Given the description of an element on the screen output the (x, y) to click on. 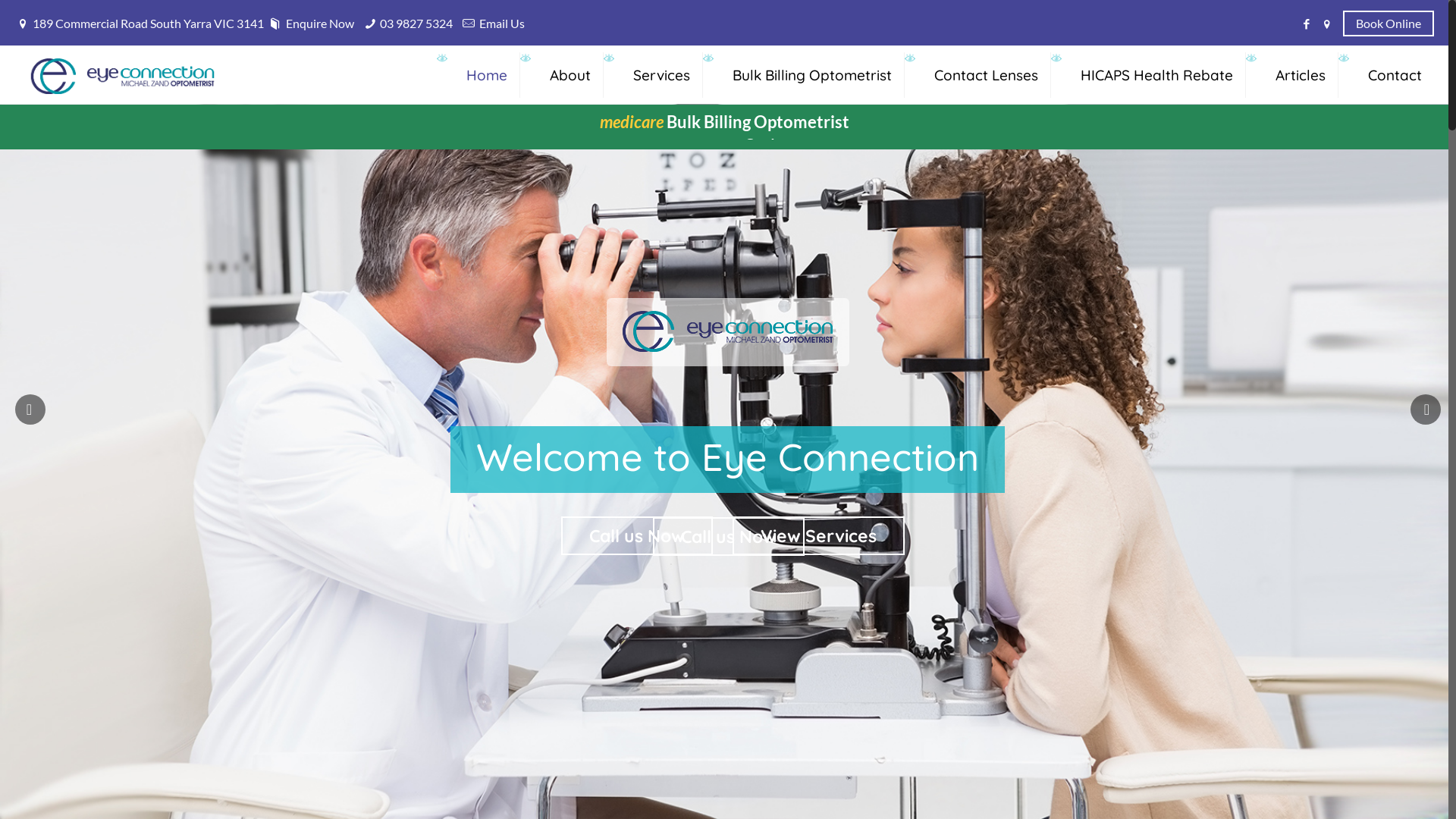
Enquire Now Element type: text (309, 22)
About Element type: text (570, 74)
Call us Now Element type: text (728, 536)
HICAPS Health Rebate Element type: text (1156, 74)
Bulk Billing Optometrist Element type: text (812, 74)
Email Us Element type: text (501, 22)
Home Element type: text (487, 74)
Articles Element type: text (1300, 74)
Services Element type: text (661, 74)
View Services Element type: text (818, 535)
Call us Now Element type: text (636, 535)
Facebook Element type: hover (1306, 23)
Contact Lenses Element type: text (986, 74)
Contact Element type: text (1394, 74)
Eye Connection Element type: hover (122, 74)
03 9827 5324 Element type: text (415, 22)
Book Online Element type: text (1388, 22)
